Given the description of an element on the screen output the (x, y) to click on. 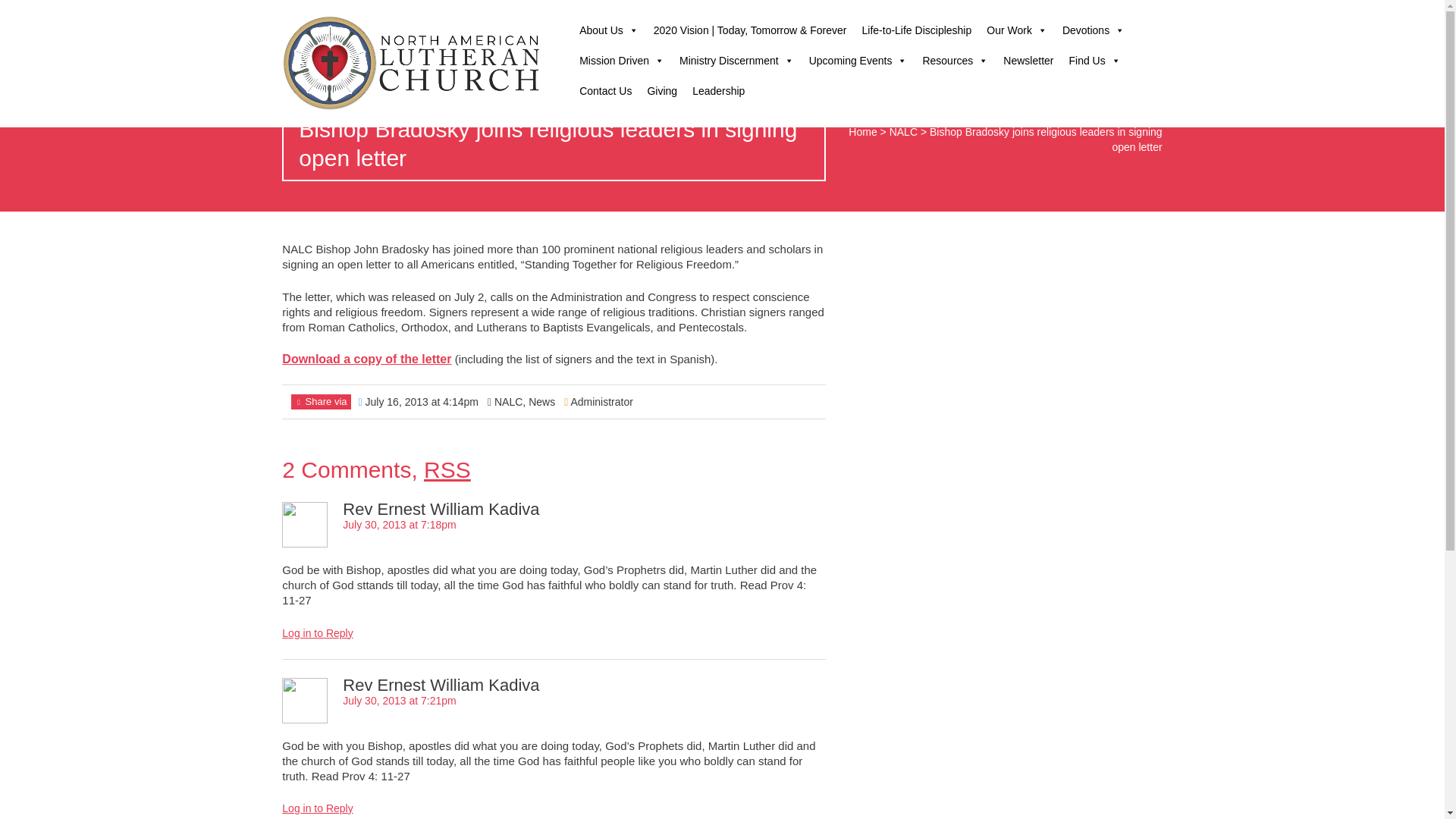
Life-to-Life Discipleship (916, 30)
About Us (609, 30)
Social Buttons (1051, 15)
Contact (1021, 15)
DONATE (1129, 10)
Comments RSS (446, 468)
Search (21, 12)
Search (1082, 15)
North American Lutheran Church -  (413, 63)
Our Work (1016, 30)
